Given the description of an element on the screen output the (x, y) to click on. 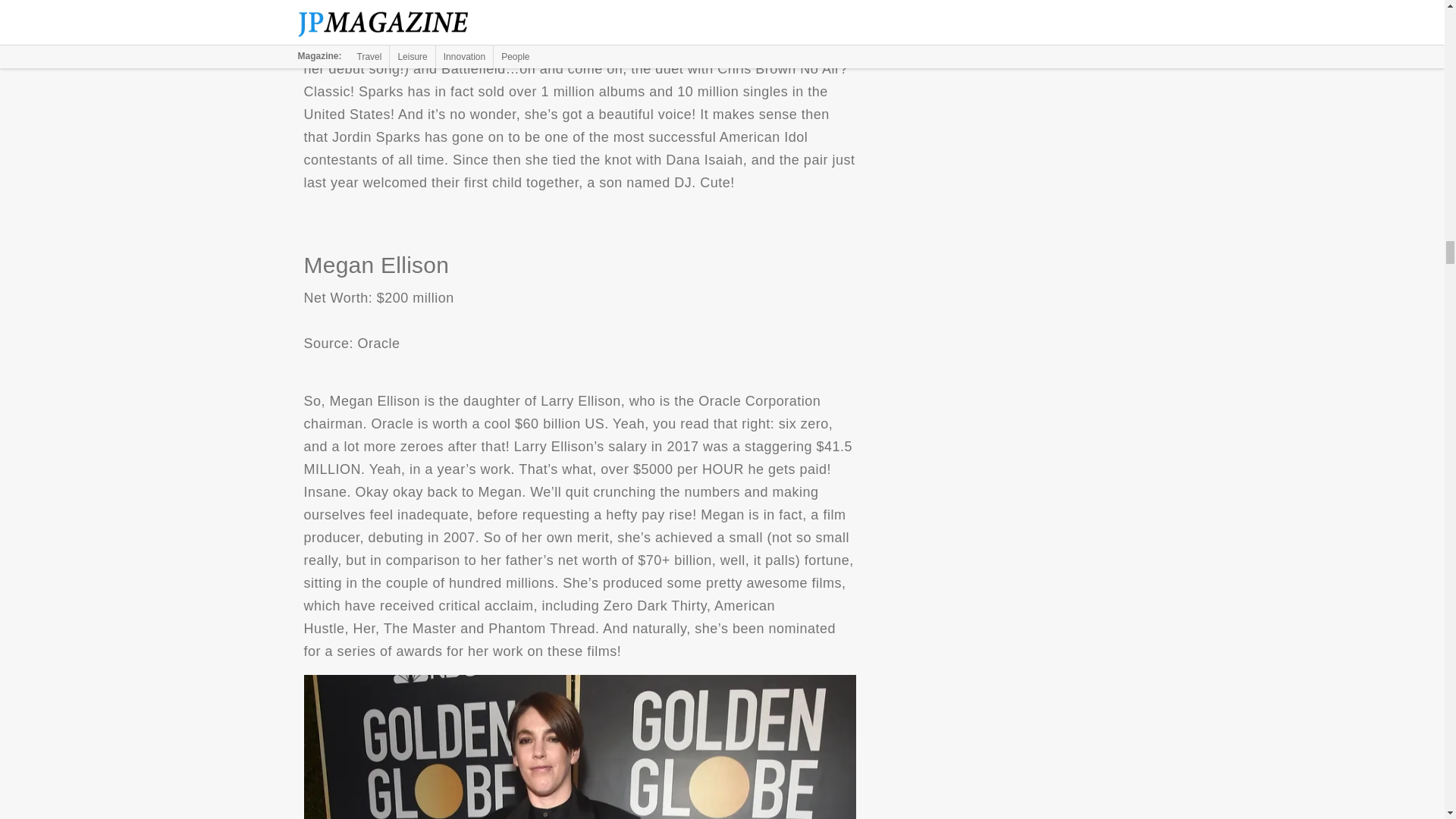
Megan Ellison (579, 746)
